Given the description of an element on the screen output the (x, y) to click on. 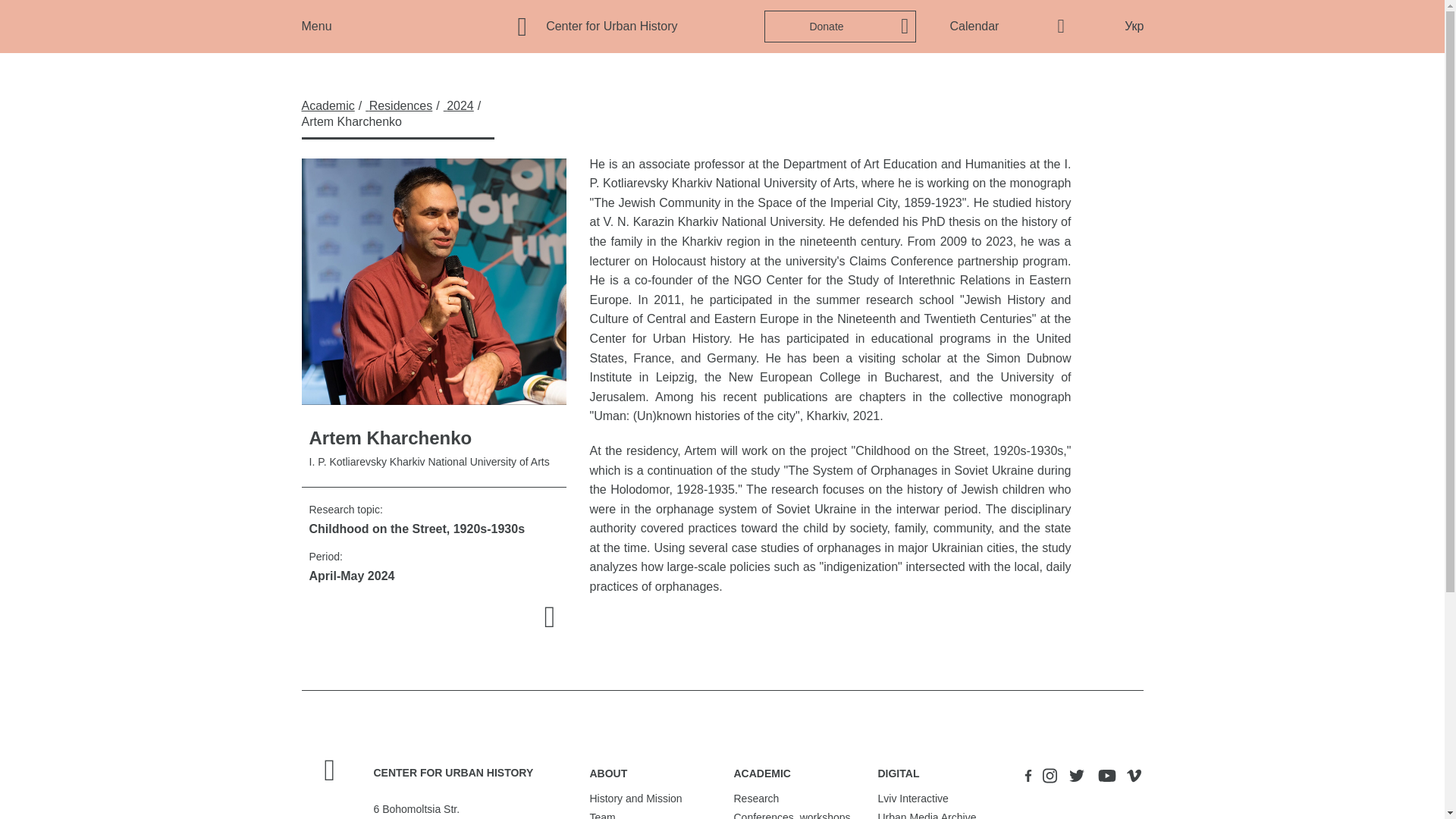
Menu (316, 25)
Calendar (973, 26)
Donate (839, 26)
Center for Urban History (596, 26)
